Given the description of an element on the screen output the (x, y) to click on. 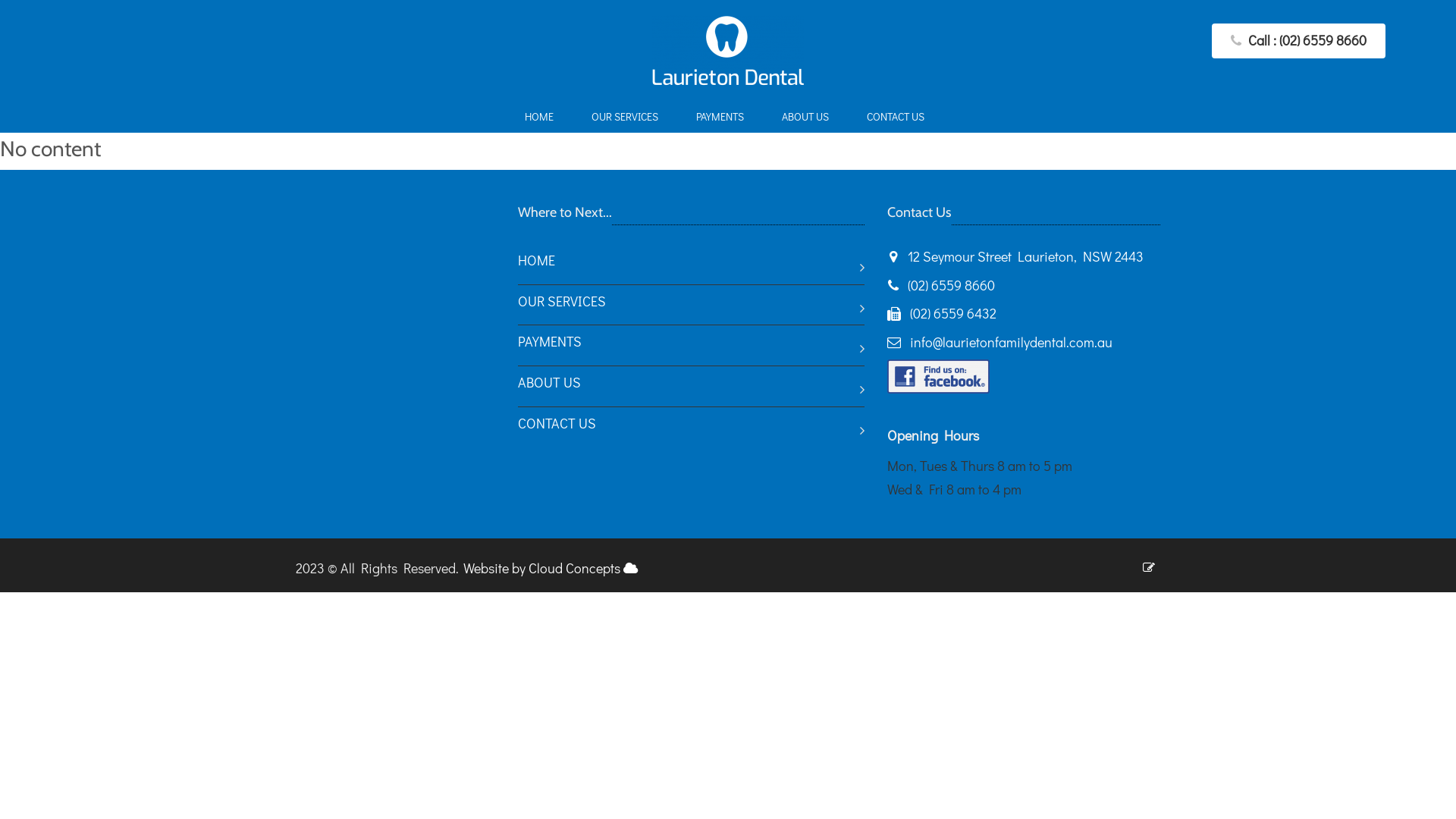
172.70.90.6 Element type: hover (630, 568)
CONTACT US Element type: text (898, 117)
HOME Element type: text (542, 117)
ABOUT US Element type: text (807, 117)
ABOUT US Element type: text (690, 386)
info@laurietonfamilydental.com.au Element type: text (1011, 341)
Call : (02) 6559 8660 Element type: text (1298, 40)
OUR SERVICES Element type: text (628, 117)
PAYMENTS Element type: text (690, 345)
(02) 6559 8660 Element type: text (950, 285)
CONTACT US Element type: text (690, 427)
PAYMENTS Element type: text (723, 117)
HOME Element type: text (690, 264)
OUR SERVICES Element type: text (690, 305)
Website by Cloud Concepts Element type: text (550, 567)
12 Seymour Street Laurieton, NSW 2443 Element type: text (1015, 256)
(02) 6559 6432 Element type: text (953, 313)
